Given the description of an element on the screen output the (x, y) to click on. 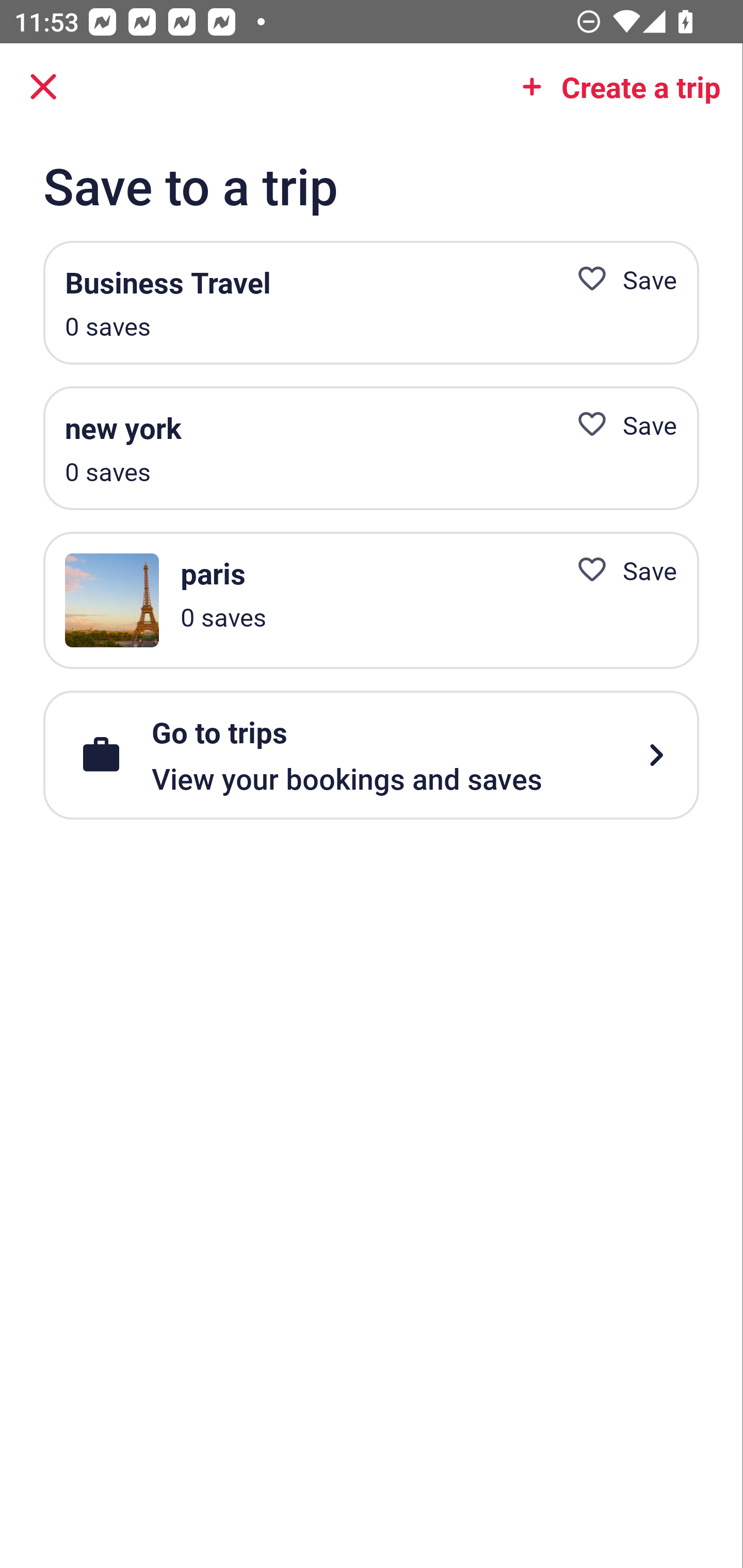
Close (43, 86)
Add Icon Create a trip (615, 86)
Favorite Icon Save (619, 279)
Business Travel 0 saves Favorite Icon Save (371, 303)
Favorite Icon Save (619, 424)
new york 0 saves Favorite Icon Save (371, 447)
Favorite Icon Save (619, 569)
